Given the description of an element on the screen output the (x, y) to click on. 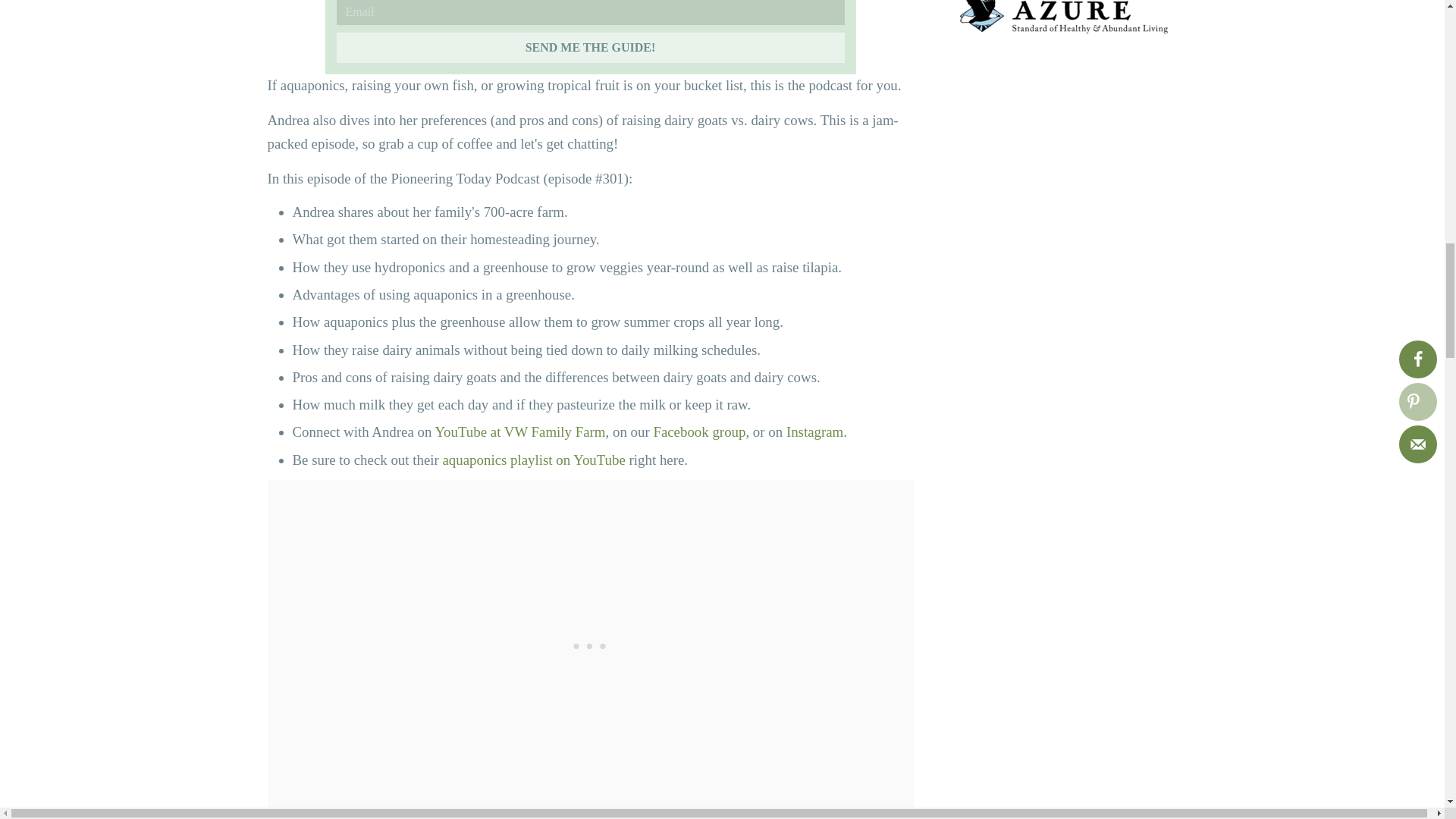
Shift-click to edit this widget. (1062, 19)
SEND ME THE GUIDE! (590, 47)
Send Me The GUIDE! (590, 47)
aquaponics playlist on YouTube (534, 459)
Instagram (814, 431)
Facebook group (698, 431)
YouTube at VW Family Farm (519, 431)
